Given the description of an element on the screen output the (x, y) to click on. 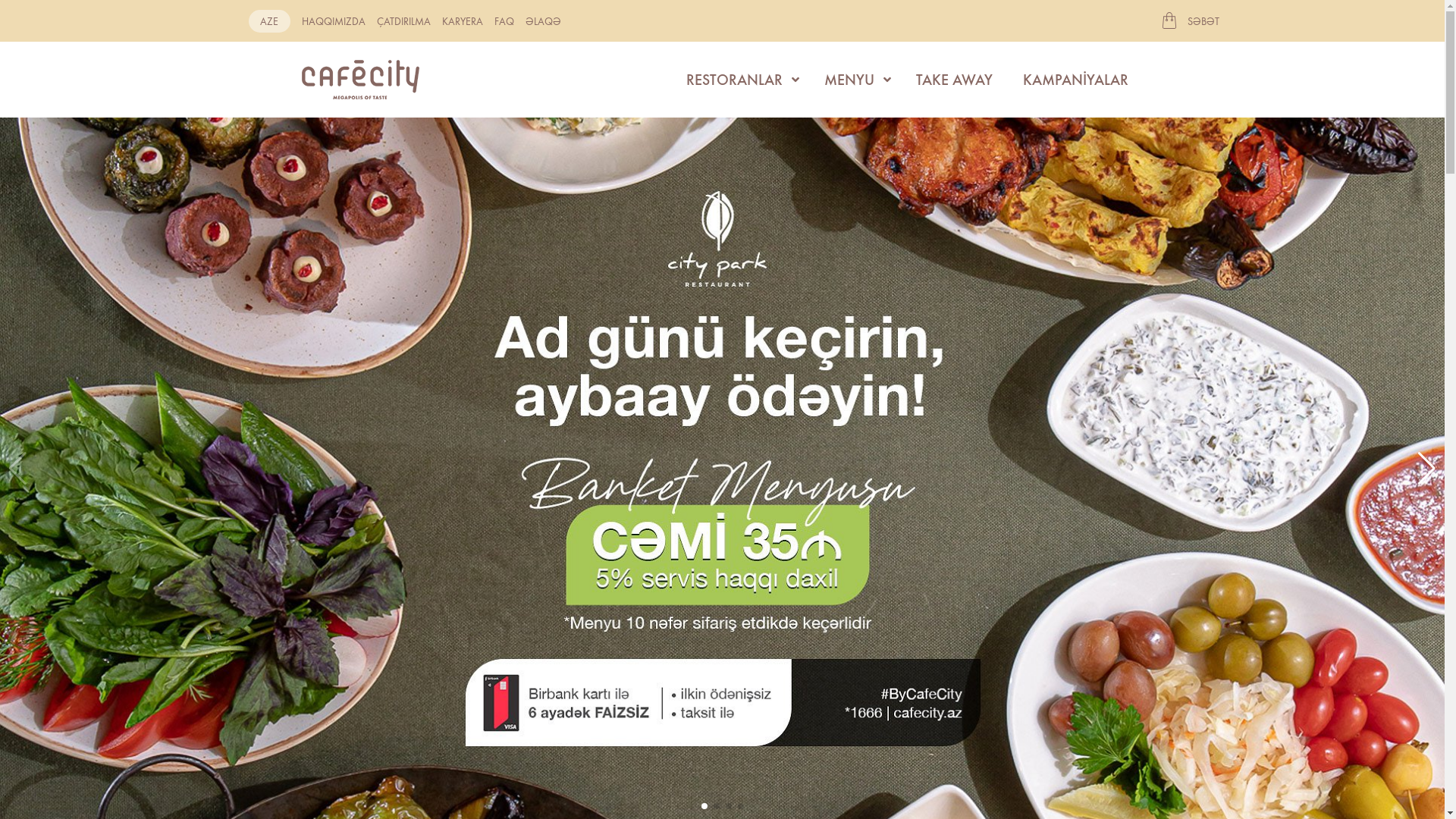
FAQ Element type: text (504, 20)
KARYERA Element type: text (461, 20)
HAQQIMIZDA Element type: text (333, 20)
AZE Element type: text (269, 20)
TAKE AWAY Element type: text (953, 79)
MENYU Element type: text (854, 79)
KAMPANIYALAR Element type: text (1074, 79)
RESTORANLAR Element type: text (739, 79)
